Given the description of an element on the screen output the (x, y) to click on. 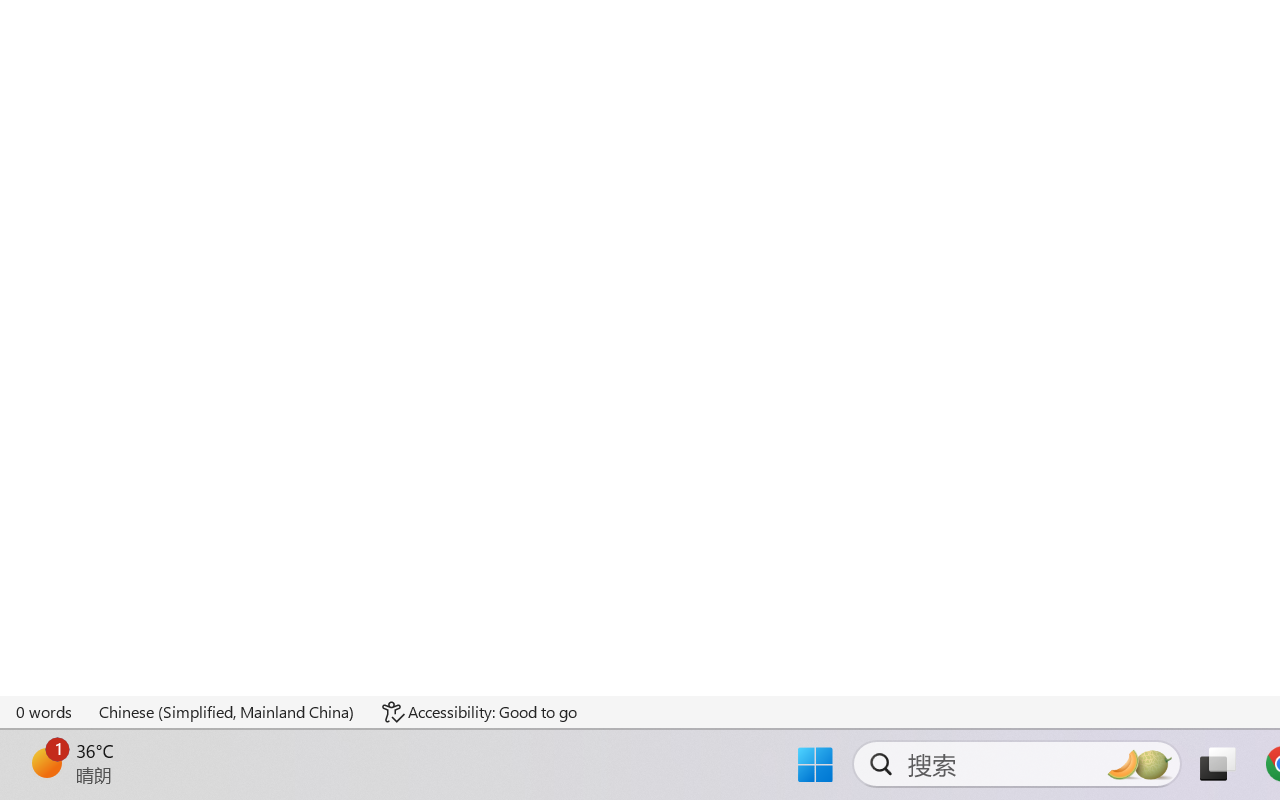
About Chrome (124, 50)
